Given the description of an element on the screen output the (x, y) to click on. 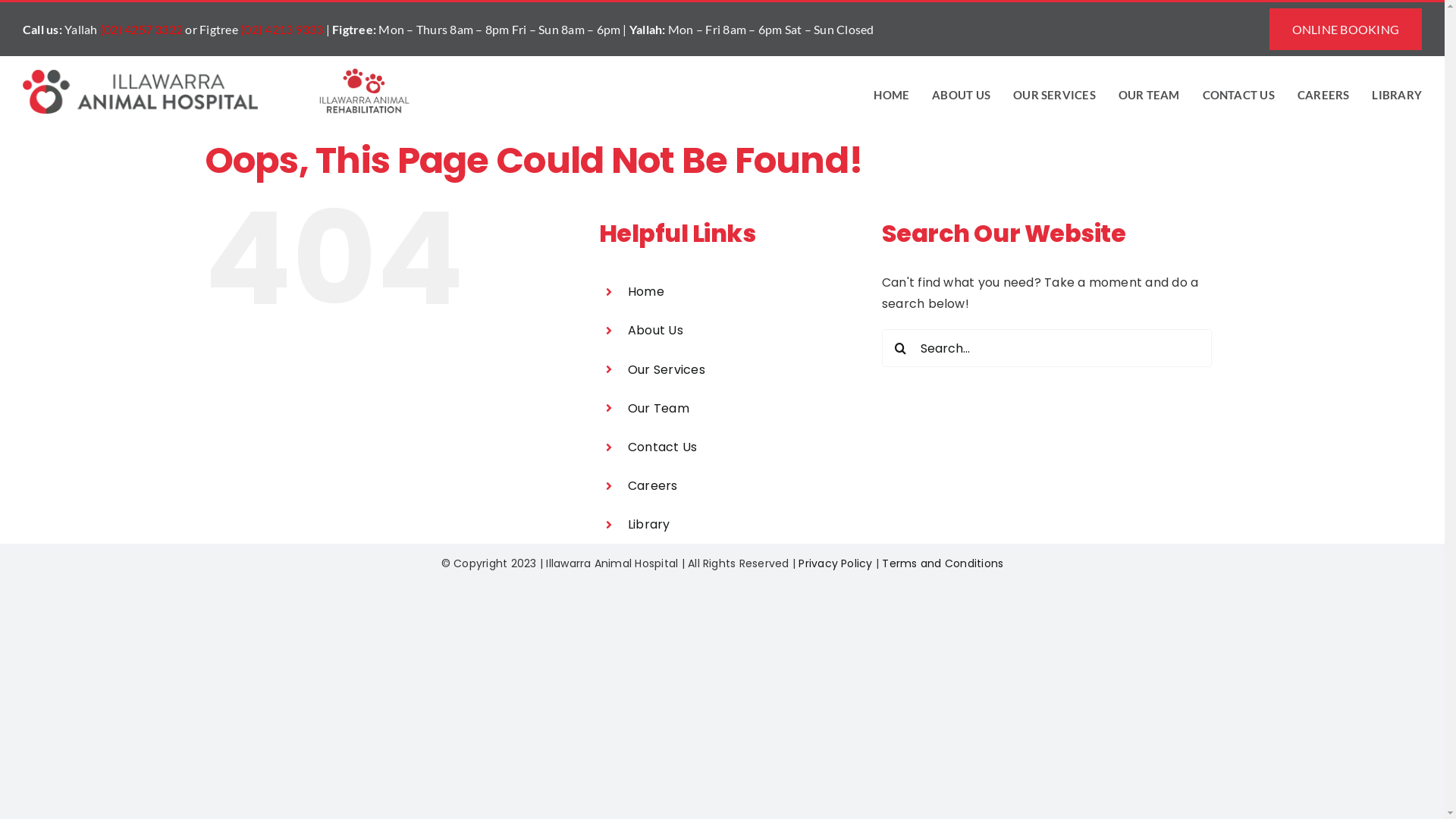
CAREERS Element type: text (1323, 94)
Our Services Element type: text (666, 369)
Terms and Conditions Element type: text (942, 563)
ABOUT US Element type: text (960, 94)
OUR TEAM Element type: text (1148, 94)
About Us Element type: text (655, 329)
Privacy Policy Element type: text (835, 563)
Careers Element type: text (652, 485)
LIBRARY Element type: text (1396, 94)
(02) 4213 9333 Element type: text (281, 28)
Our Team Element type: text (658, 408)
(02) 4257 3322 Element type: text (141, 28)
Home Element type: text (645, 291)
HOME Element type: text (891, 94)
OUR SERVICES Element type: text (1054, 94)
CONTACT US Element type: text (1238, 94)
Contact Us Element type: text (661, 446)
Library Element type: text (648, 524)
ONLINE BOOKING Element type: text (1345, 29)
